Given the description of an element on the screen output the (x, y) to click on. 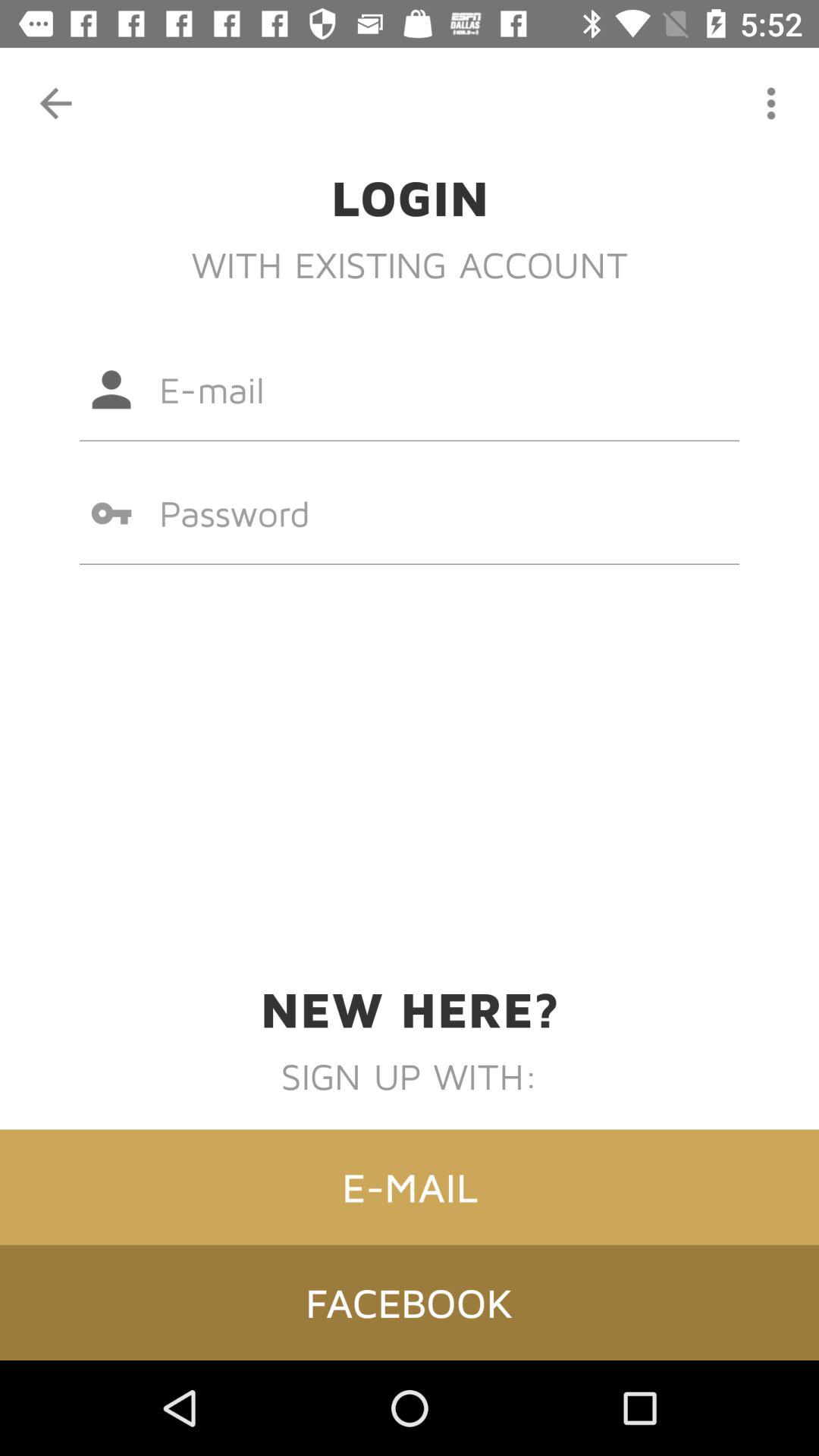
press icon below sign up with: item (409, 1186)
